Given the description of an element on the screen output the (x, y) to click on. 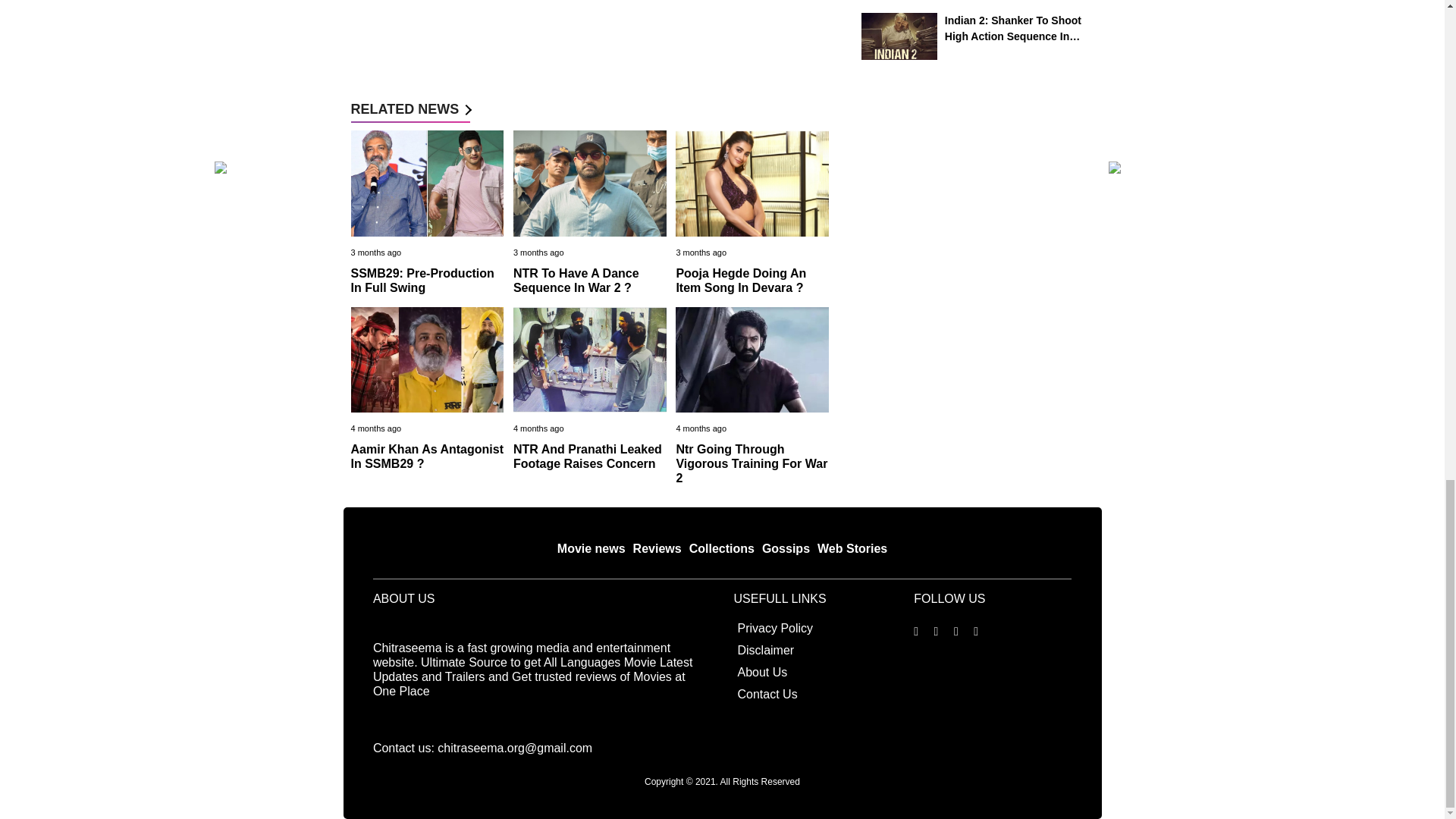
NTR And Pranathi Leaked Footage Raises Concern (587, 456)
Pooja Hegde Doing An Item Song In Devara ? (740, 280)
SSMB29: Pre-Production In Full Swing (421, 280)
NTR To Have A Dance Sequence In War 2 ? (576, 280)
NTR To Have A Dance Sequence In War 2 ? (576, 280)
Pooja Hegde Doing An Item Song In Devara ? (740, 280)
Ntr Going Through Vigorous Training For War 2 (751, 463)
Aamir Khan As Antagonist In SSMB29 ? (426, 456)
Aamir Khan As Antagonist In SSMB29 ? (426, 456)
SSMB29: Pre-Production In Full Swing (421, 280)
